Given the description of an element on the screen output the (x, y) to click on. 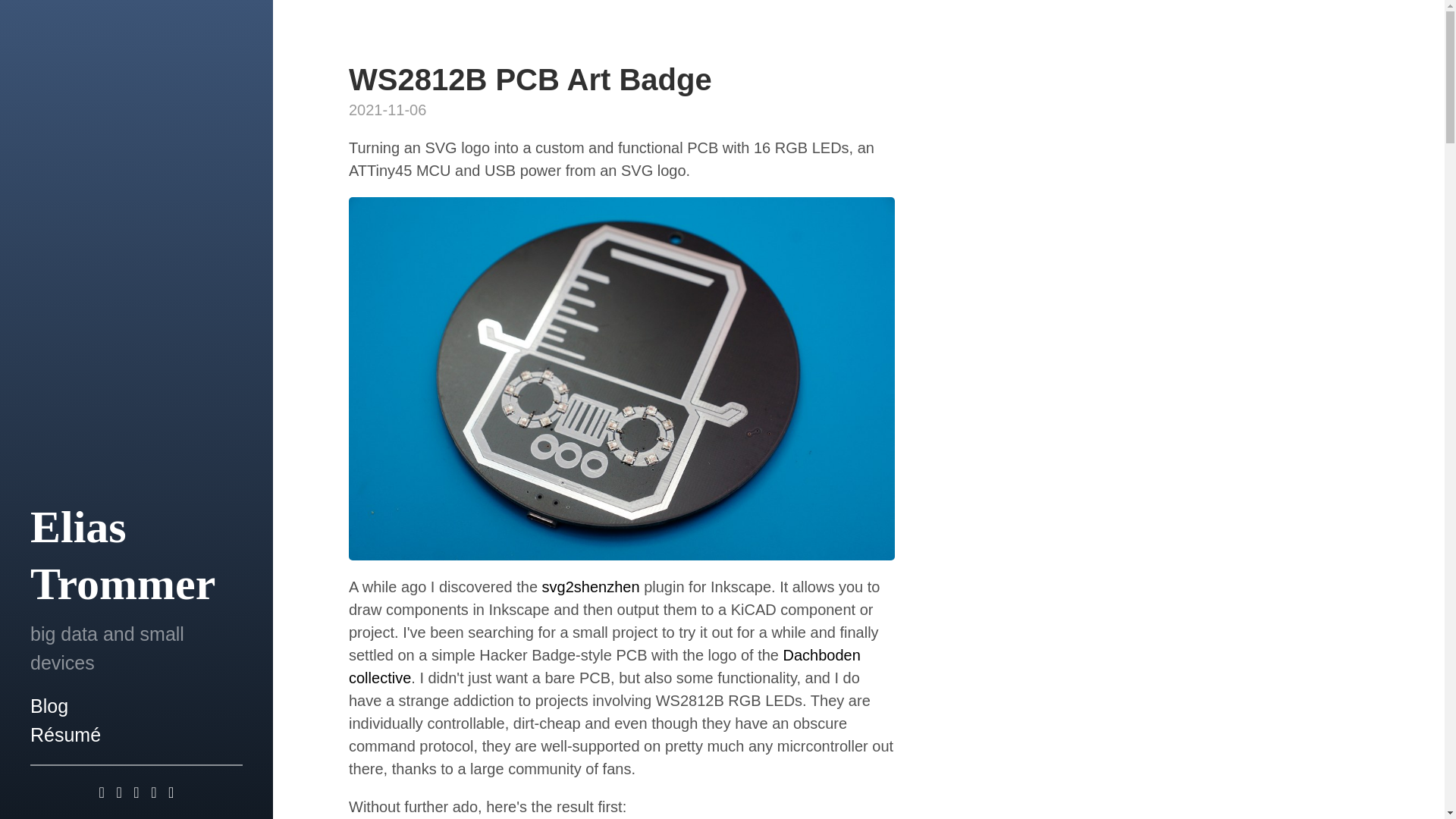
svg2shenzhen (590, 586)
Blog (49, 705)
Elias Trommer (136, 555)
Dachboden collective (604, 666)
